Given the description of an element on the screen output the (x, y) to click on. 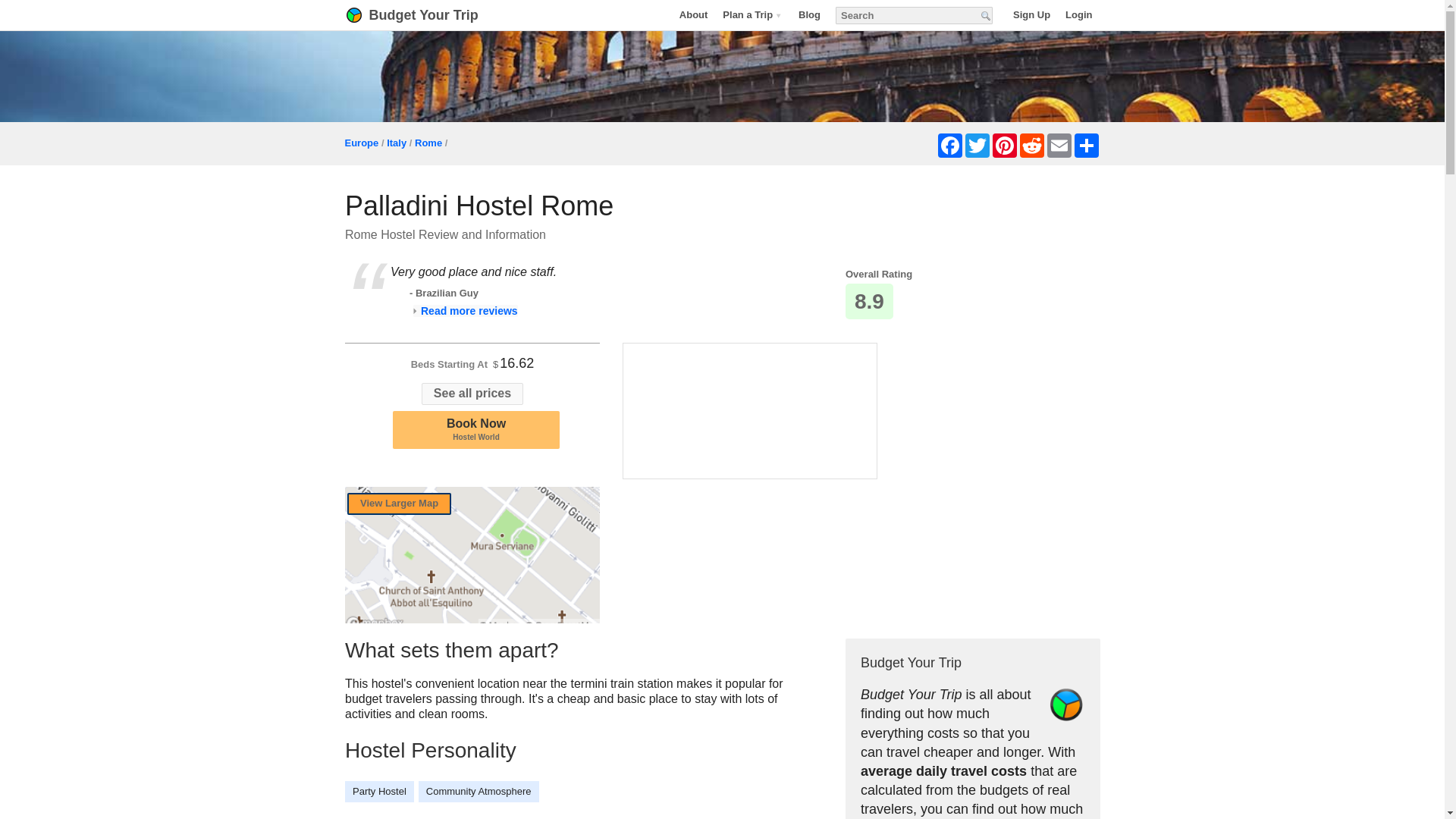
Rome (428, 142)
Email (476, 429)
Budget Your Trip (1058, 145)
Plan a Trip (431, 14)
Europe (752, 14)
View Larger Map (360, 142)
Pinterest (399, 504)
Italy (1003, 145)
Blog (396, 142)
Read more reviews (809, 14)
Reddit (464, 310)
About (1031, 145)
Twitter (693, 14)
Share (976, 145)
